Given the description of an element on the screen output the (x, y) to click on. 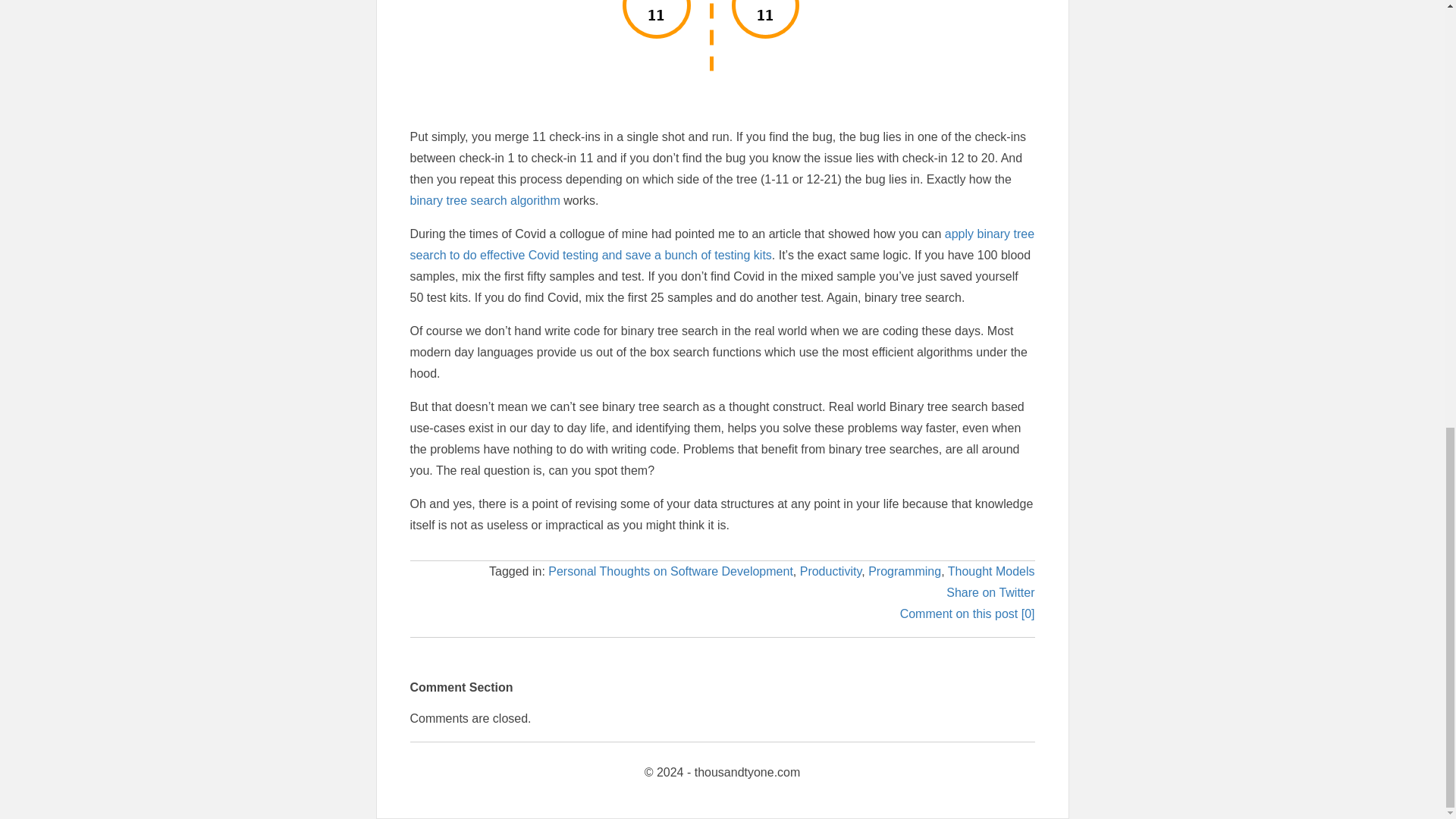
Thought Models (991, 571)
Share on Twitter (989, 592)
Programming (903, 571)
binarytreerealworld (722, 40)
Productivity (830, 571)
binary tree search algorithm (484, 200)
Personal Thoughts on Software Development (670, 571)
